Given the description of an element on the screen output the (x, y) to click on. 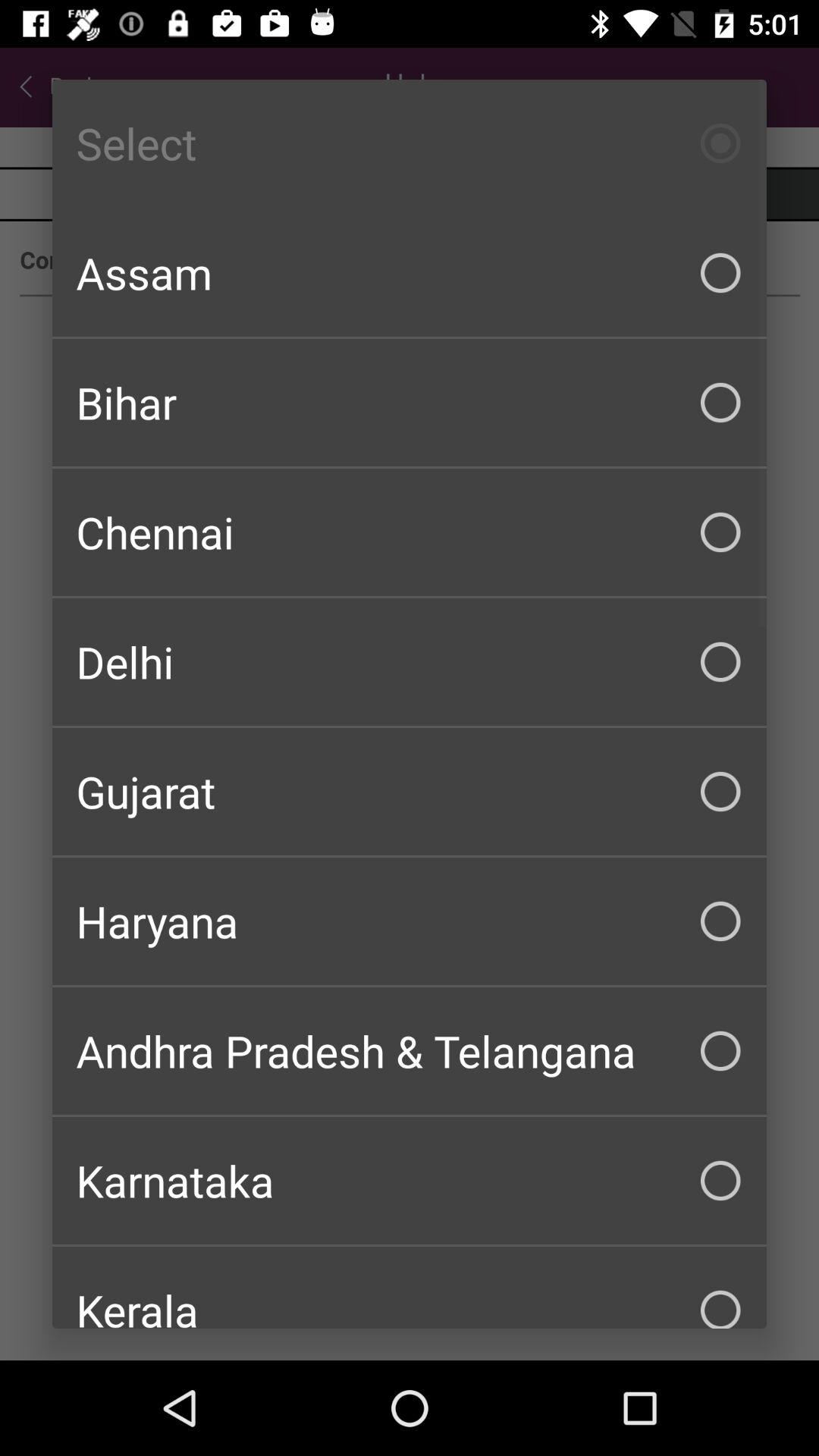
turn off the checkbox above the andhra pradesh & telangana item (409, 921)
